Given the description of an element on the screen output the (x, y) to click on. 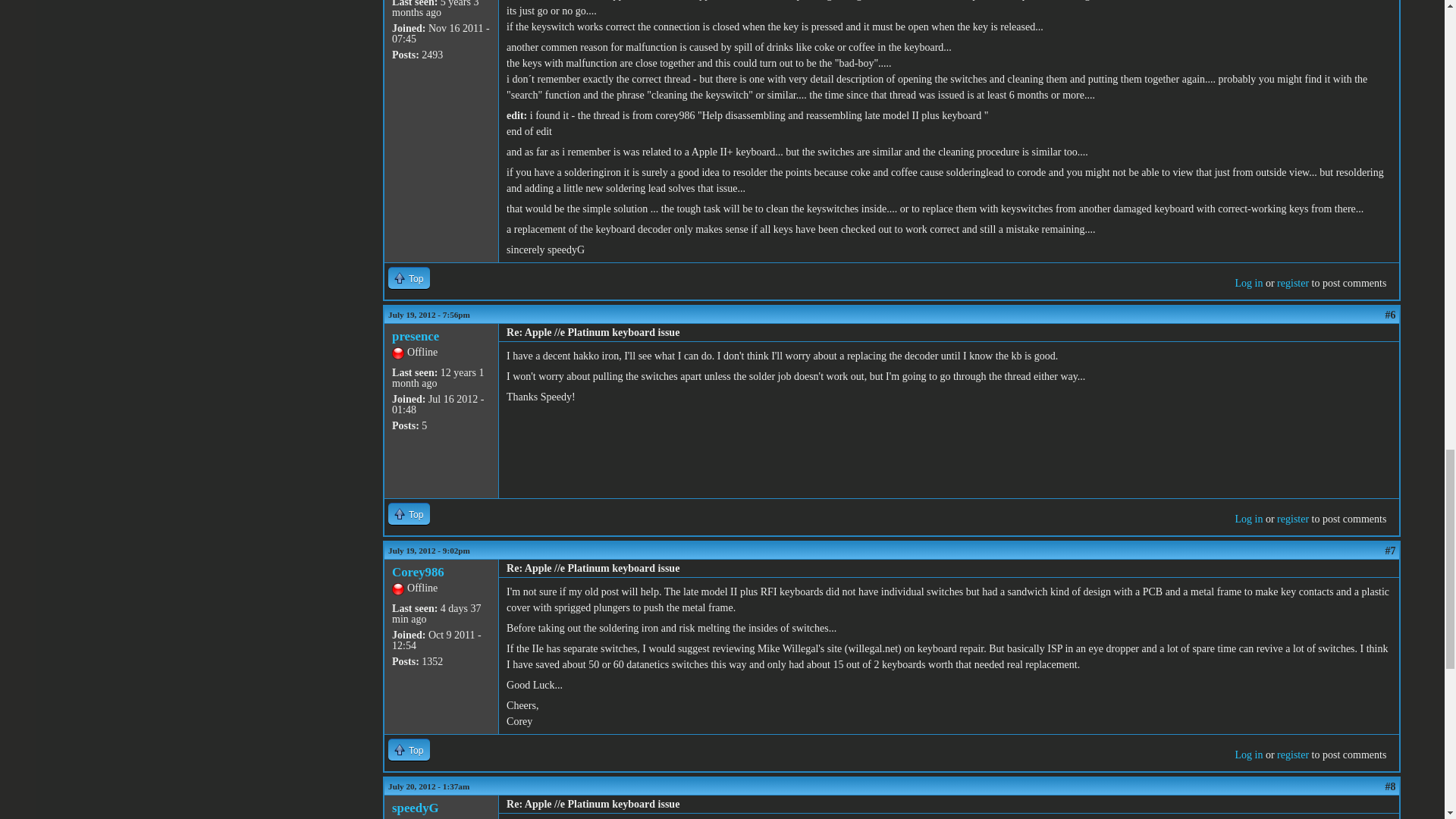
Jump to top of page (408, 513)
Jump to top of page (408, 277)
View user profile. (415, 336)
Jump to top of page (408, 749)
View user profile. (417, 572)
